Given the description of an element on the screen output the (x, y) to click on. 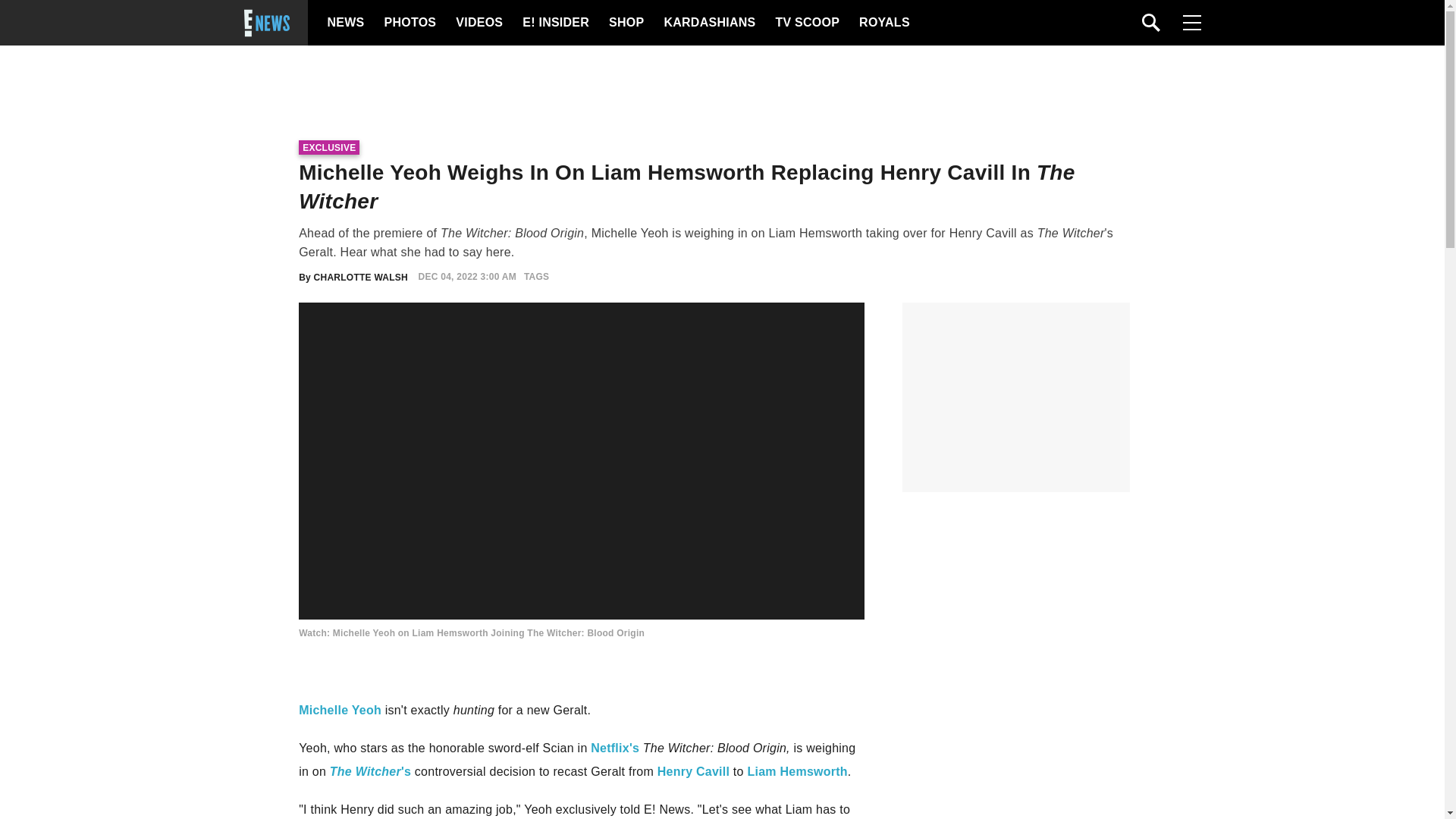
CHARLOTTE WALSH (360, 276)
Henry Cavill (693, 771)
Michelle Yeoh (339, 709)
E! INSIDER (555, 22)
SHOP (625, 22)
TV SCOOP (806, 22)
VIDEOS (478, 22)
The Witcher (365, 771)
ROYALS (883, 22)
Netflix's (615, 748)
